Given the description of an element on the screen output the (x, y) to click on. 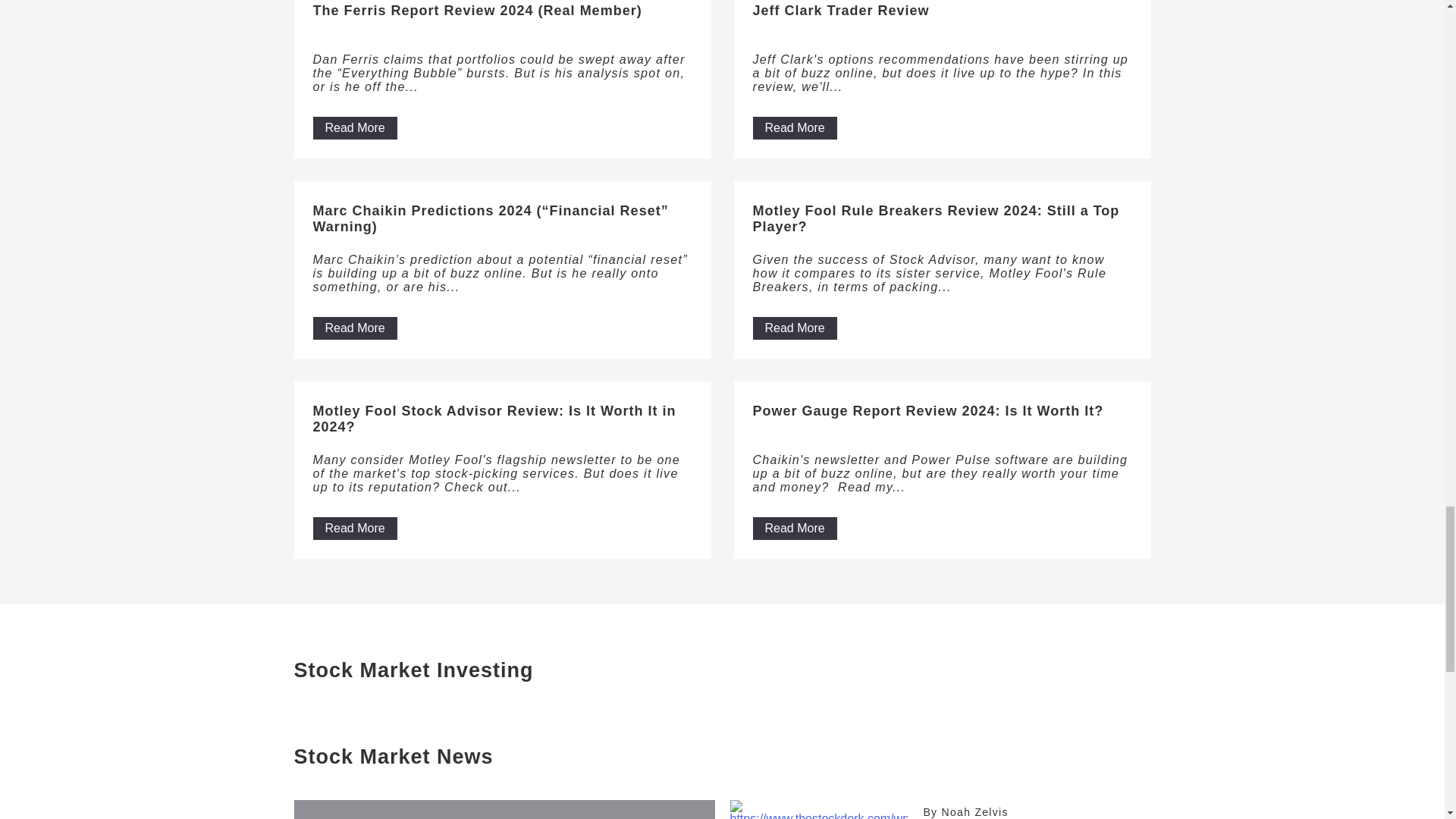
Motley Fool Rule Breakers Review 2024: Still a Top Player? (941, 223)
Jeff Clark Trader Review (941, 23)
Read More (793, 128)
Read More (354, 128)
Motley Fool Stock Advisor Review: Is It Worth It in 2024? (502, 423)
Power Gauge Report Review 2024: Is It Worth It? (941, 423)
Read More (354, 327)
Read More (354, 527)
Read More (793, 327)
Read More (793, 527)
